Given the description of an element on the screen output the (x, y) to click on. 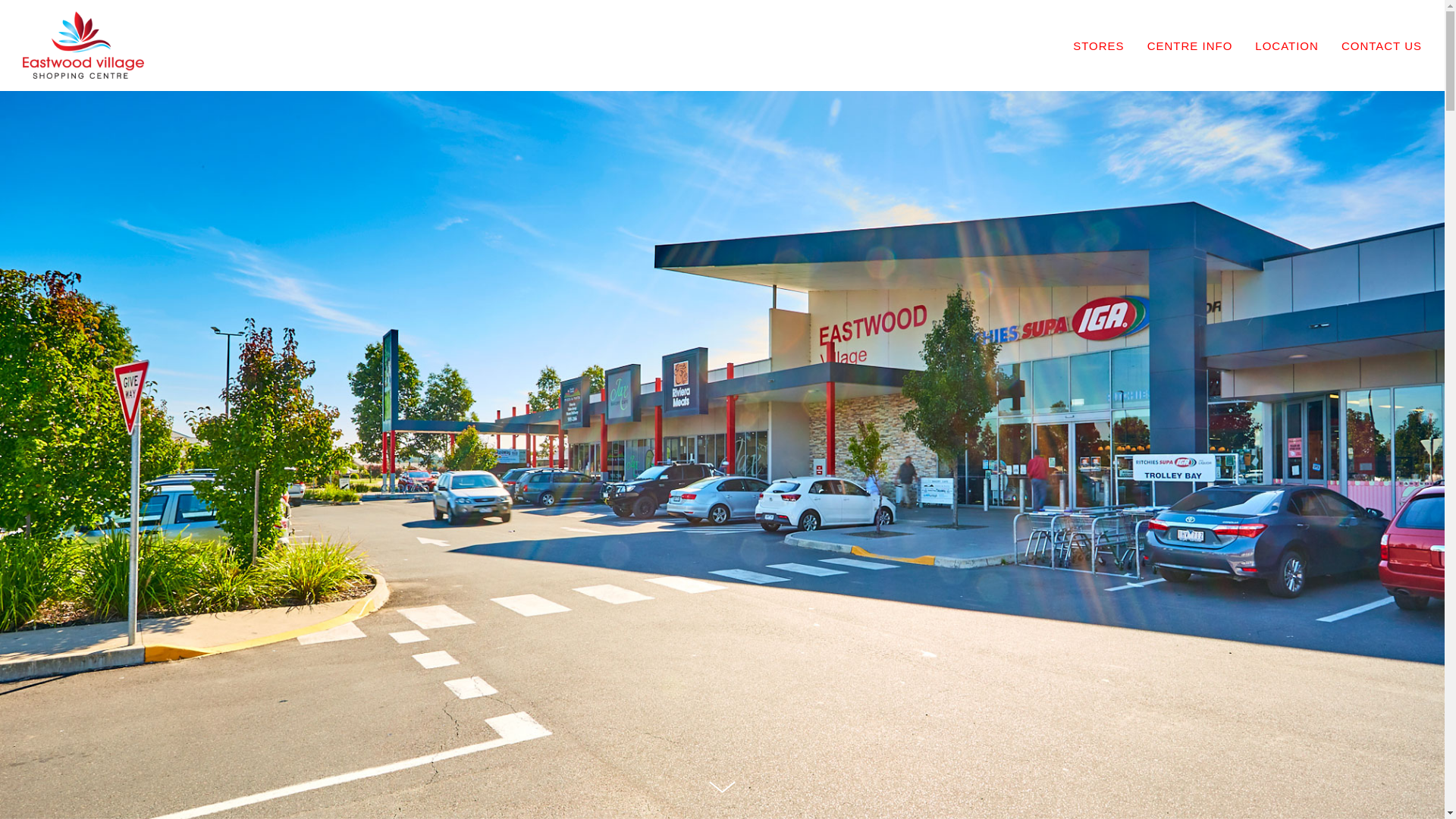
Eastwood Village Shopping Centre Element type: hover (83, 46)
LOCATION Element type: text (1298, 45)
CENTRE INFO Element type: text (1201, 45)
CONTACT US Element type: text (1381, 45)
STORES Element type: text (1109, 45)
